Given the description of an element on the screen output the (x, y) to click on. 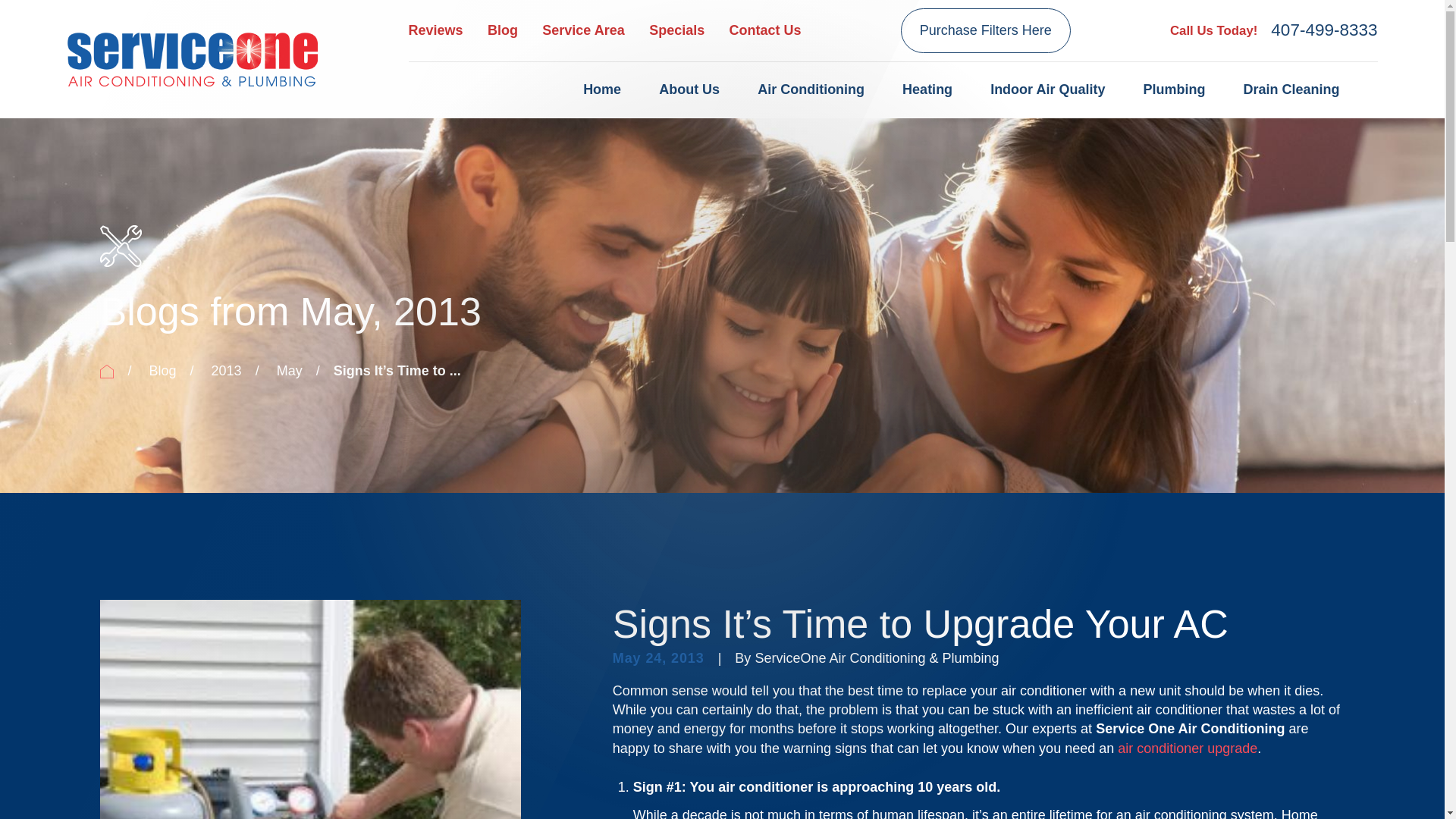
Home (602, 90)
Service Area (582, 29)
Contact Us (765, 29)
Specials (676, 29)
Air Conditioning Upgrade (1187, 748)
Reviews (435, 29)
Home (191, 58)
407-499-8333 (1324, 30)
Purchase Filters Here (985, 31)
About Us (689, 90)
Blog (502, 29)
Go Home (106, 371)
